Given the description of an element on the screen output the (x, y) to click on. 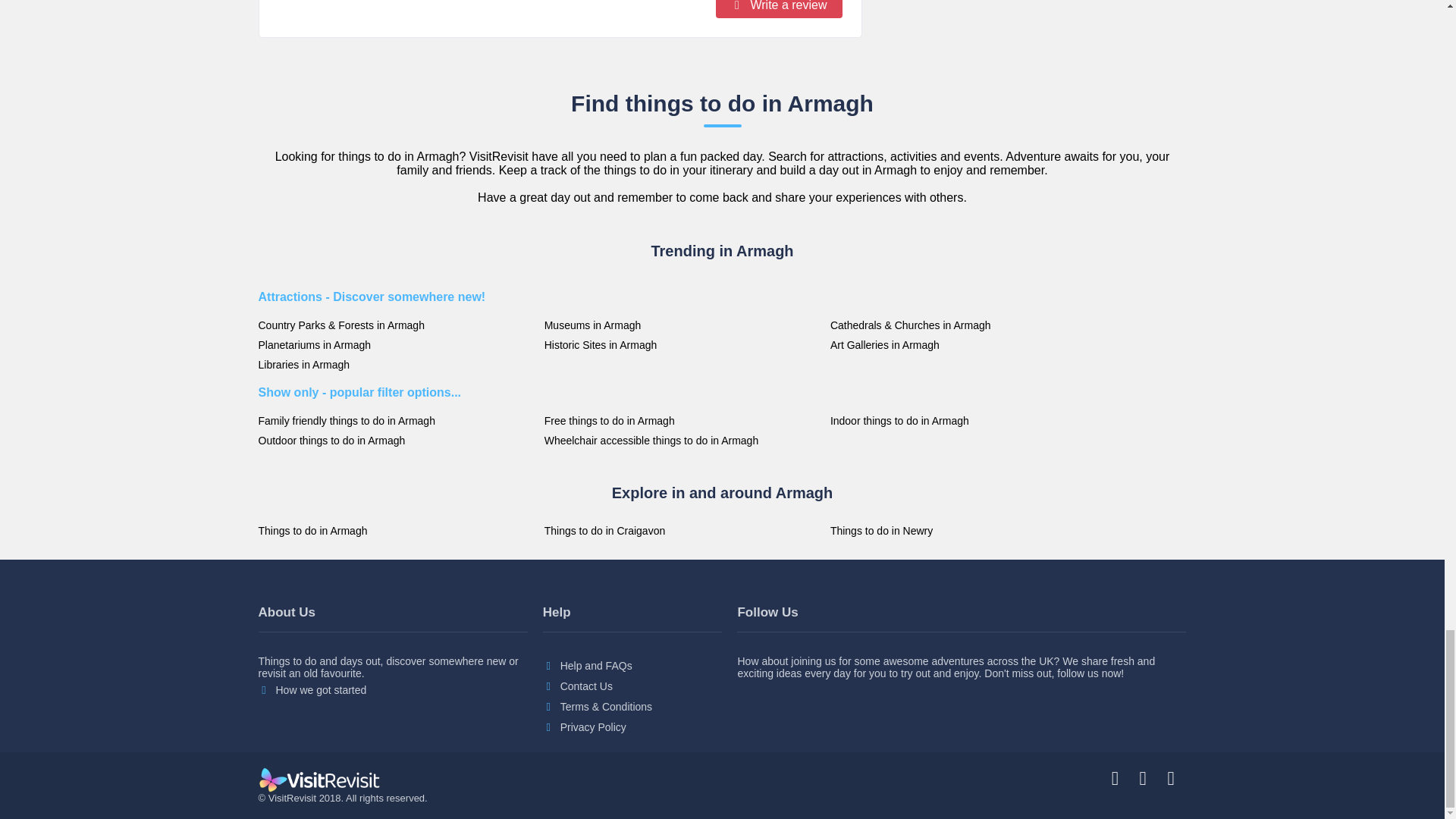
Outdoor things to do in Armagh (396, 440)
Planetariums in Armagh (396, 345)
Free things to do in Armagh (683, 420)
Historic Sites in Armagh (683, 345)
Things to do in Armagh (396, 530)
Art Galleries in Armagh (968, 345)
Indoor things to do in Armagh (968, 420)
Libraries in Armagh (396, 364)
Write a review (779, 9)
Things to do in Craigavon (683, 530)
